Given the description of an element on the screen output the (x, y) to click on. 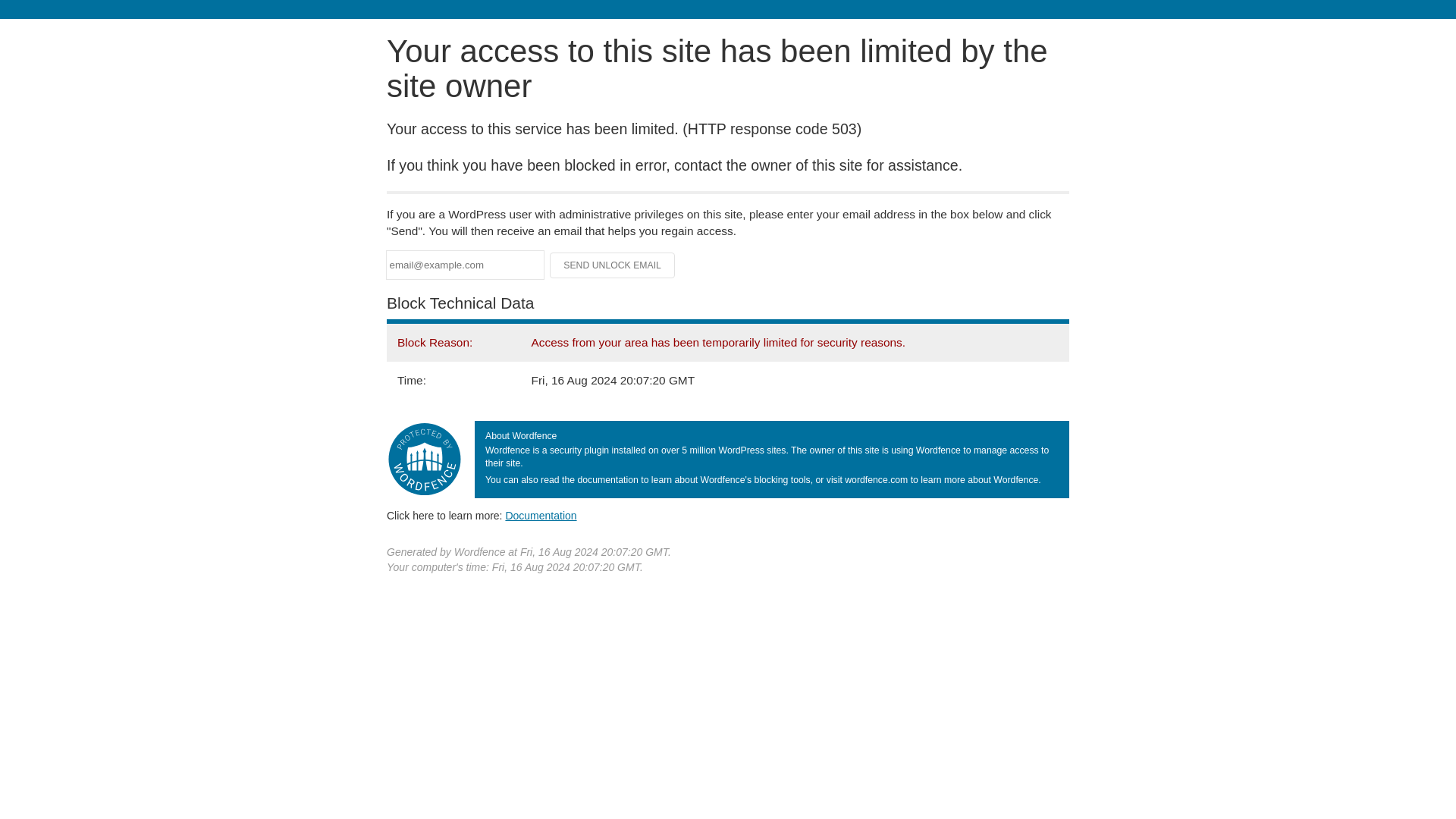
Send Unlock Email (612, 265)
Send Unlock Email (612, 265)
Documentation (540, 515)
